Given the description of an element on the screen output the (x, y) to click on. 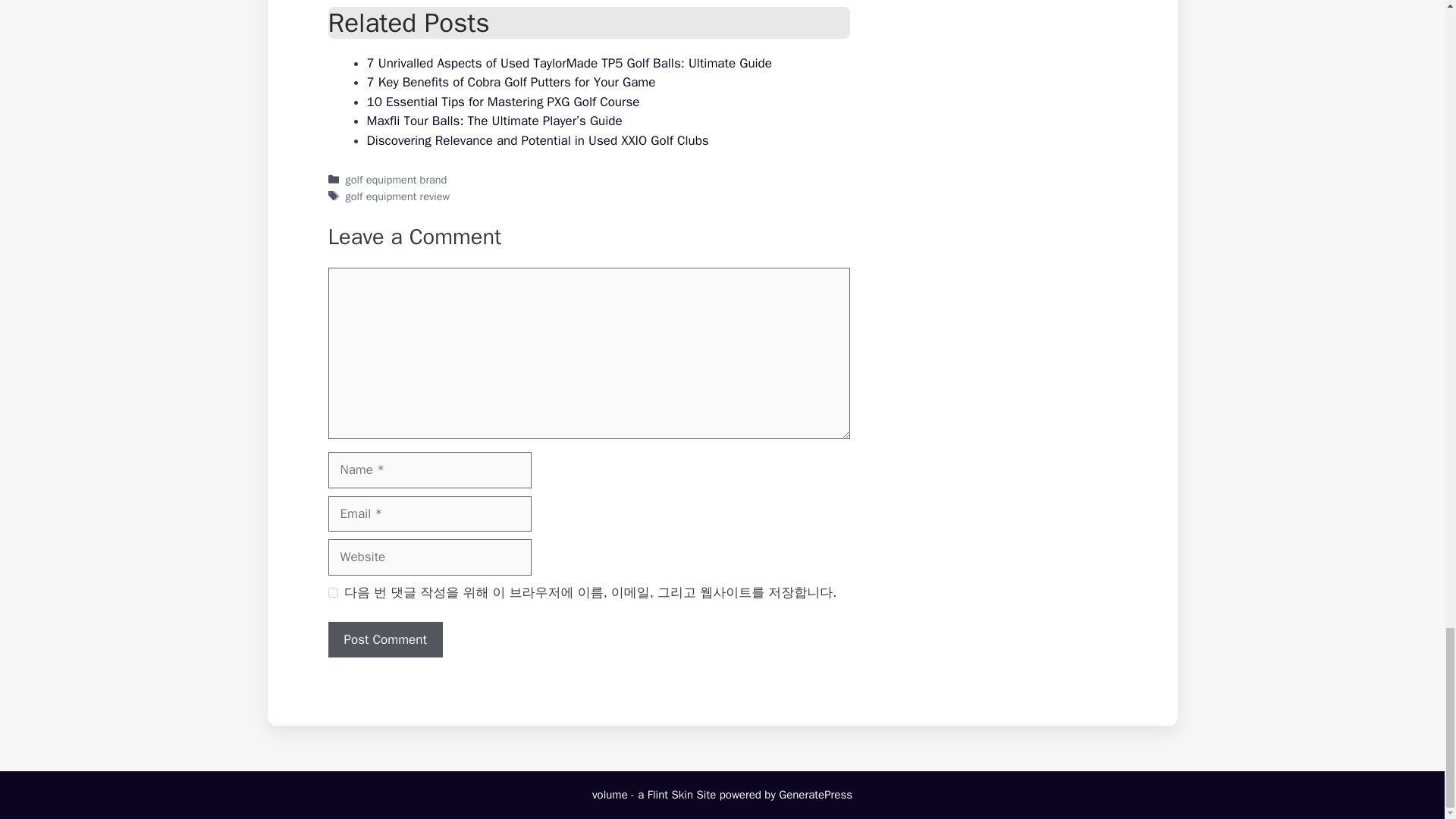
Post Comment (384, 639)
golf equipment review (397, 196)
Discovering Relevance and Potential in Used XXIO Golf Clubs (537, 140)
yes (332, 592)
10 Essential Tips for Mastering PXG Golf Course (503, 101)
7 Key Benefits of Cobra Golf Putters for Your Game (511, 82)
Post Comment (384, 639)
golf equipment brand (396, 179)
